Given the description of an element on the screen output the (x, y) to click on. 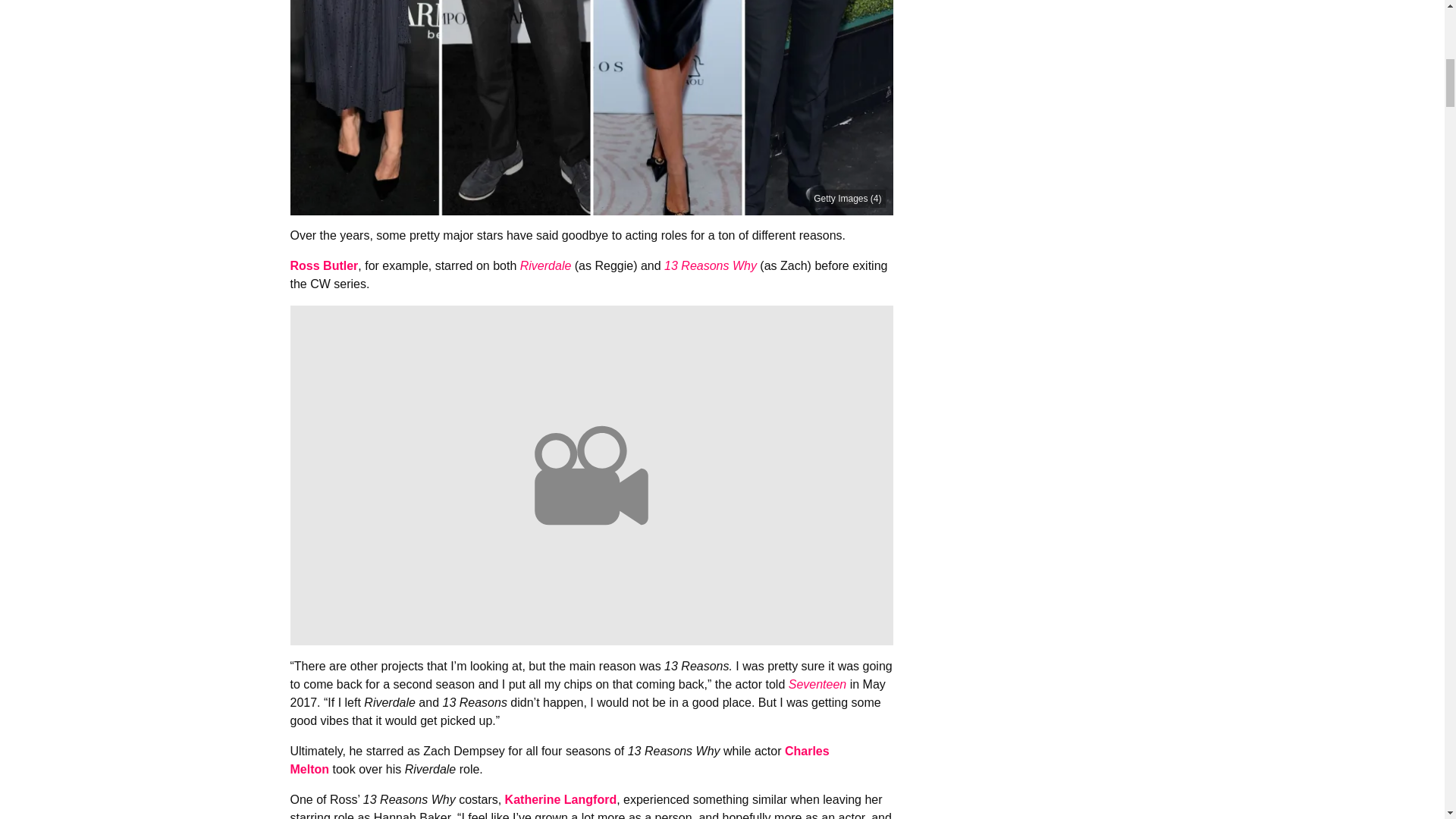
Katherine Langford (561, 799)
Seventeen (818, 684)
Ross Butler (323, 265)
13 Reasons Why (710, 265)
Charles Melton (558, 759)
Riverdale (545, 265)
